Given the description of an element on the screen output the (x, y) to click on. 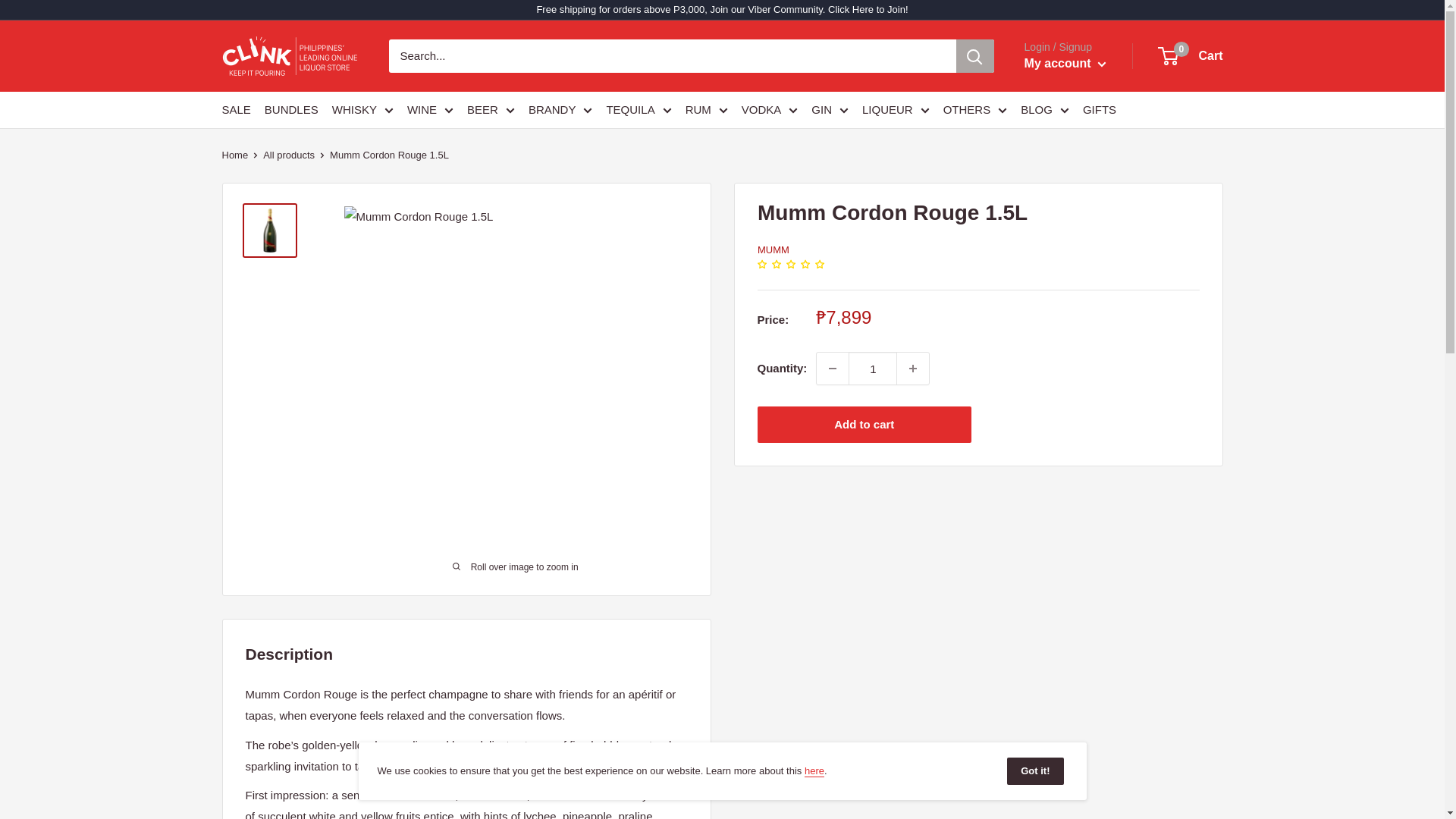
Increase quantity by 1 (912, 368)
Privacy Policy (814, 770)
Decrease quantity by 1 (832, 368)
1 (872, 368)
